Given the description of an element on the screen output the (x, y) to click on. 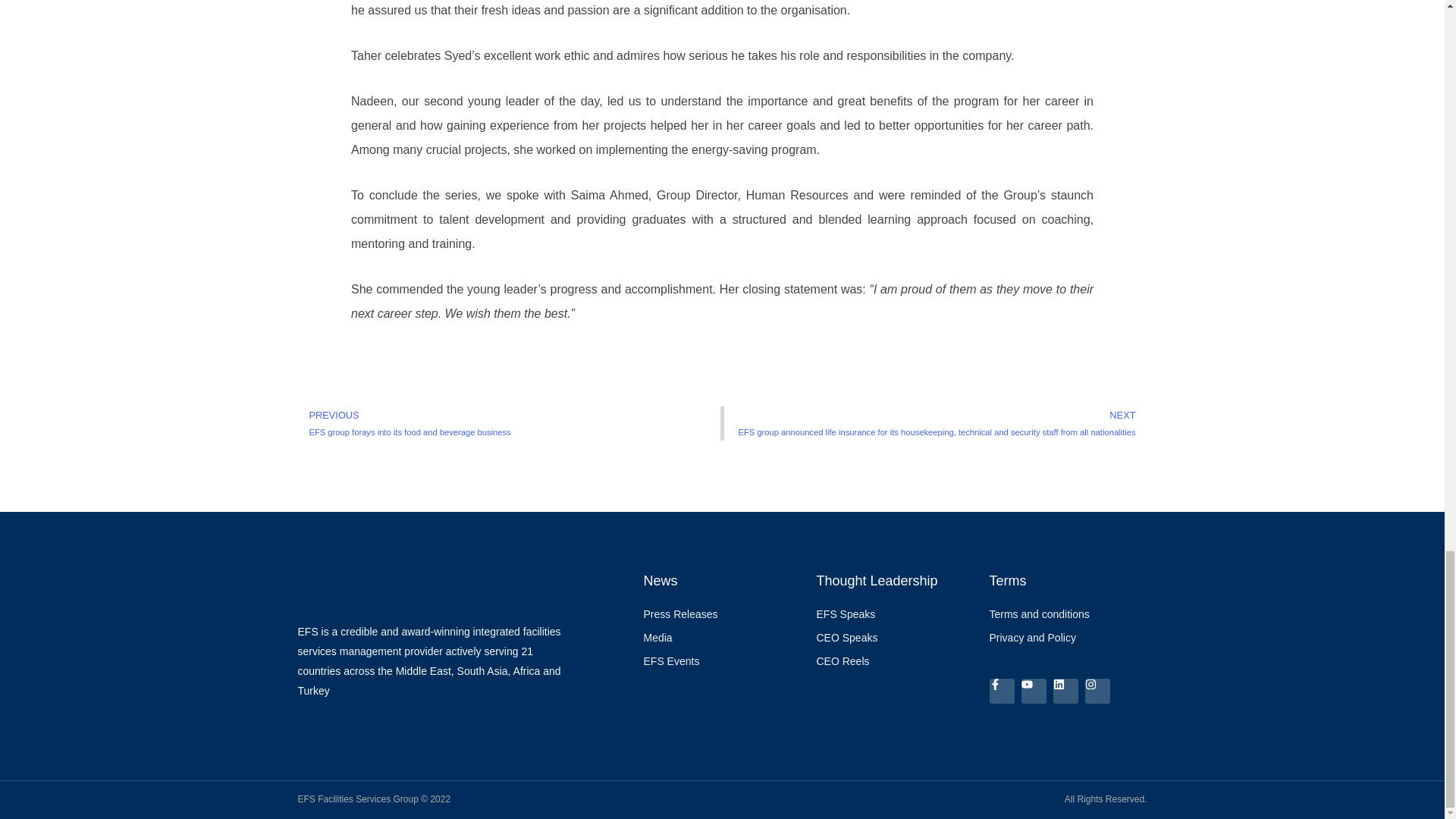
Privacy and Policy (1067, 638)
Facebook-f (1000, 690)
Instagram (1096, 690)
Media (721, 638)
Linkedin (1064, 690)
EFS Events (721, 661)
CEO Speaks (894, 638)
Press Releases (721, 614)
Youtube (1032, 690)
Terms and conditions (1067, 614)
CEO Reels (894, 661)
EFS Speaks (894, 614)
